Given the description of an element on the screen output the (x, y) to click on. 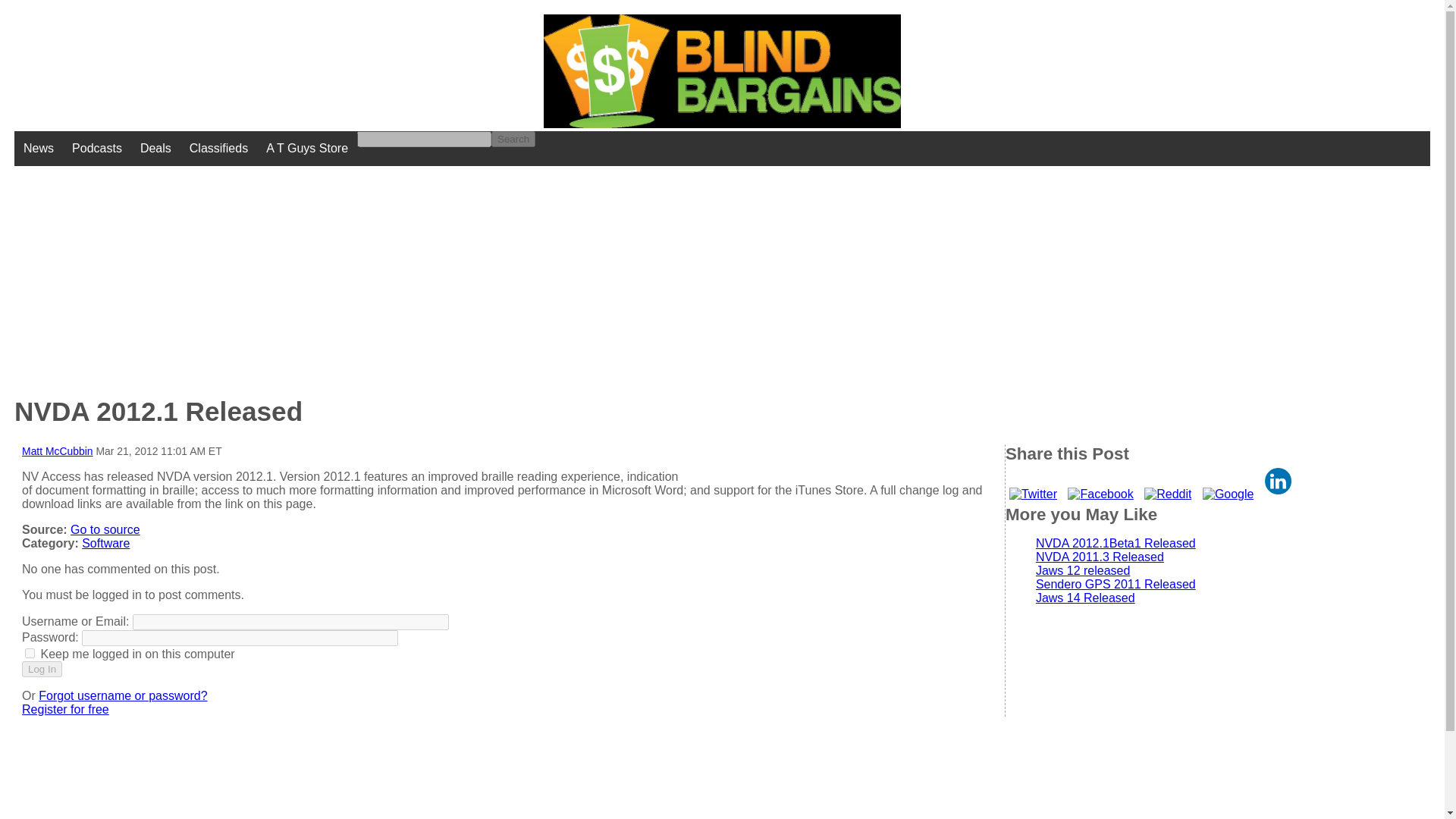
Classifieds (218, 148)
Sendero GPS 2011 Released (1115, 584)
Register for free (65, 708)
Deals (155, 148)
NVDA 2012.1Beta1 Released (1115, 543)
Podcasts (96, 148)
NVDA 2011.3 Released (1099, 556)
A T Guys Store (306, 148)
Software (105, 543)
Search (513, 139)
